Given the description of an element on the screen output the (x, y) to click on. 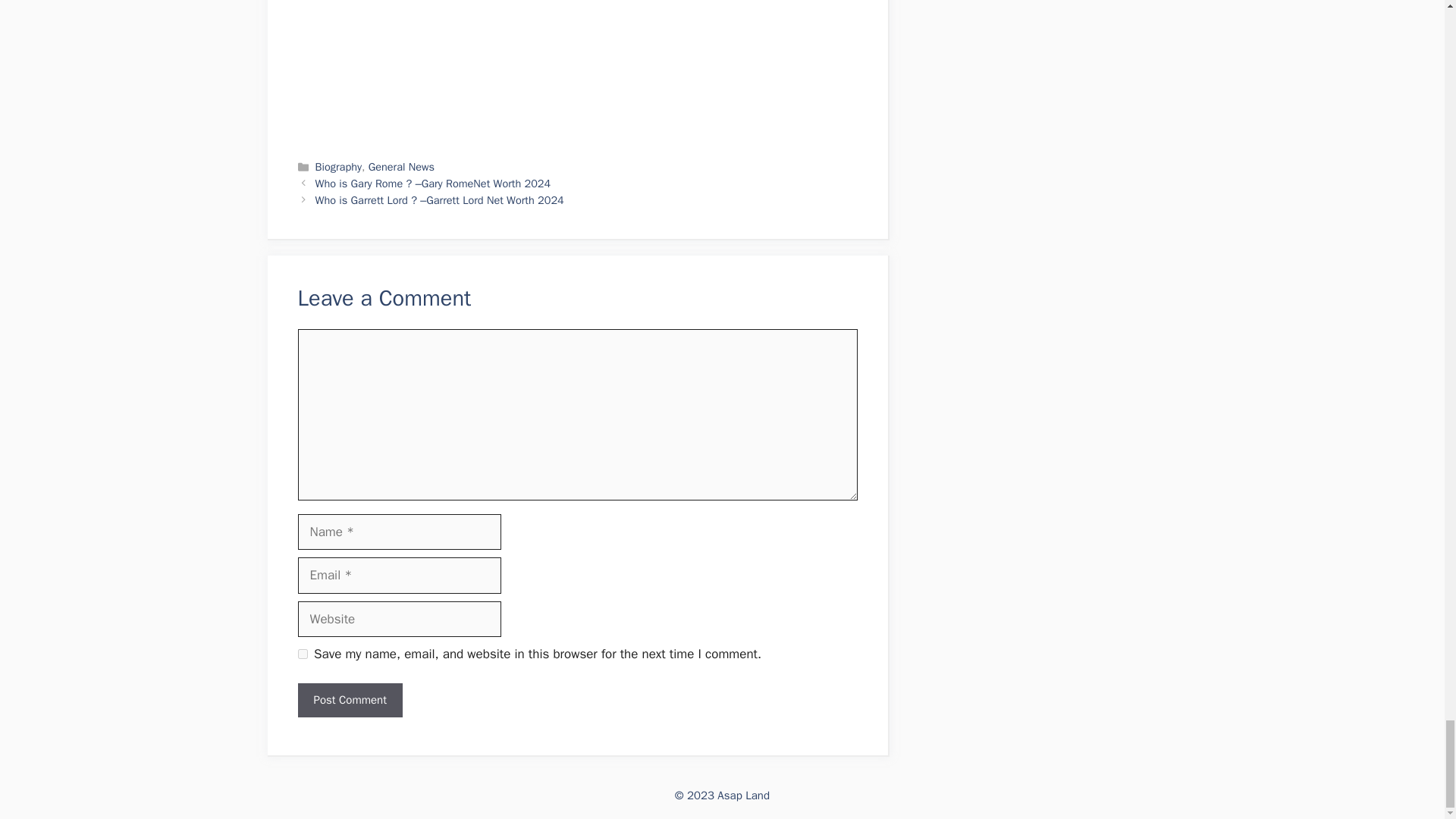
Post Comment (349, 700)
Post Comment (349, 700)
General News (400, 166)
Biography (338, 166)
yes (302, 654)
